Given the description of an element on the screen output the (x, y) to click on. 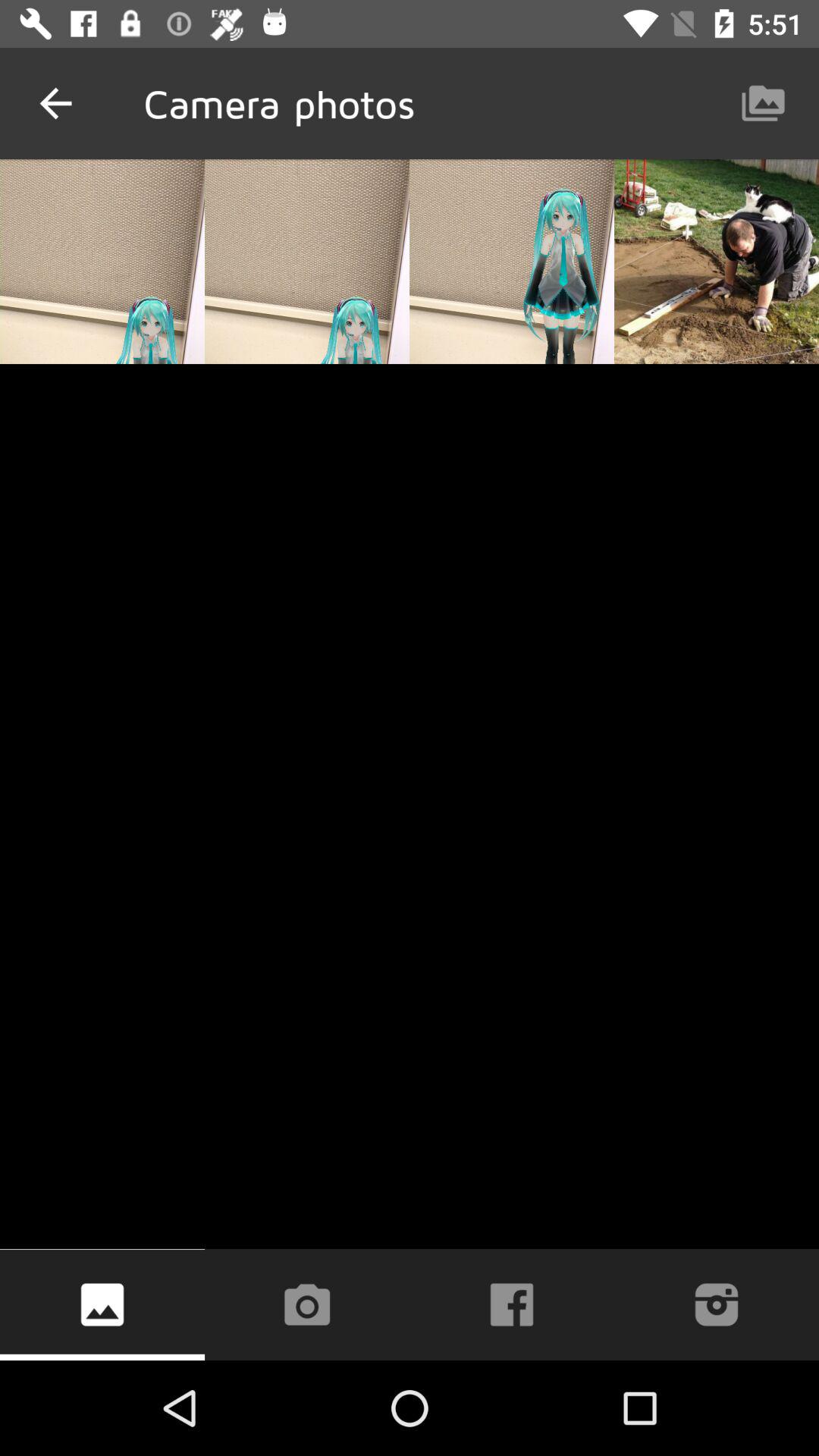
open camera (306, 1304)
